Given the description of an element on the screen output the (x, y) to click on. 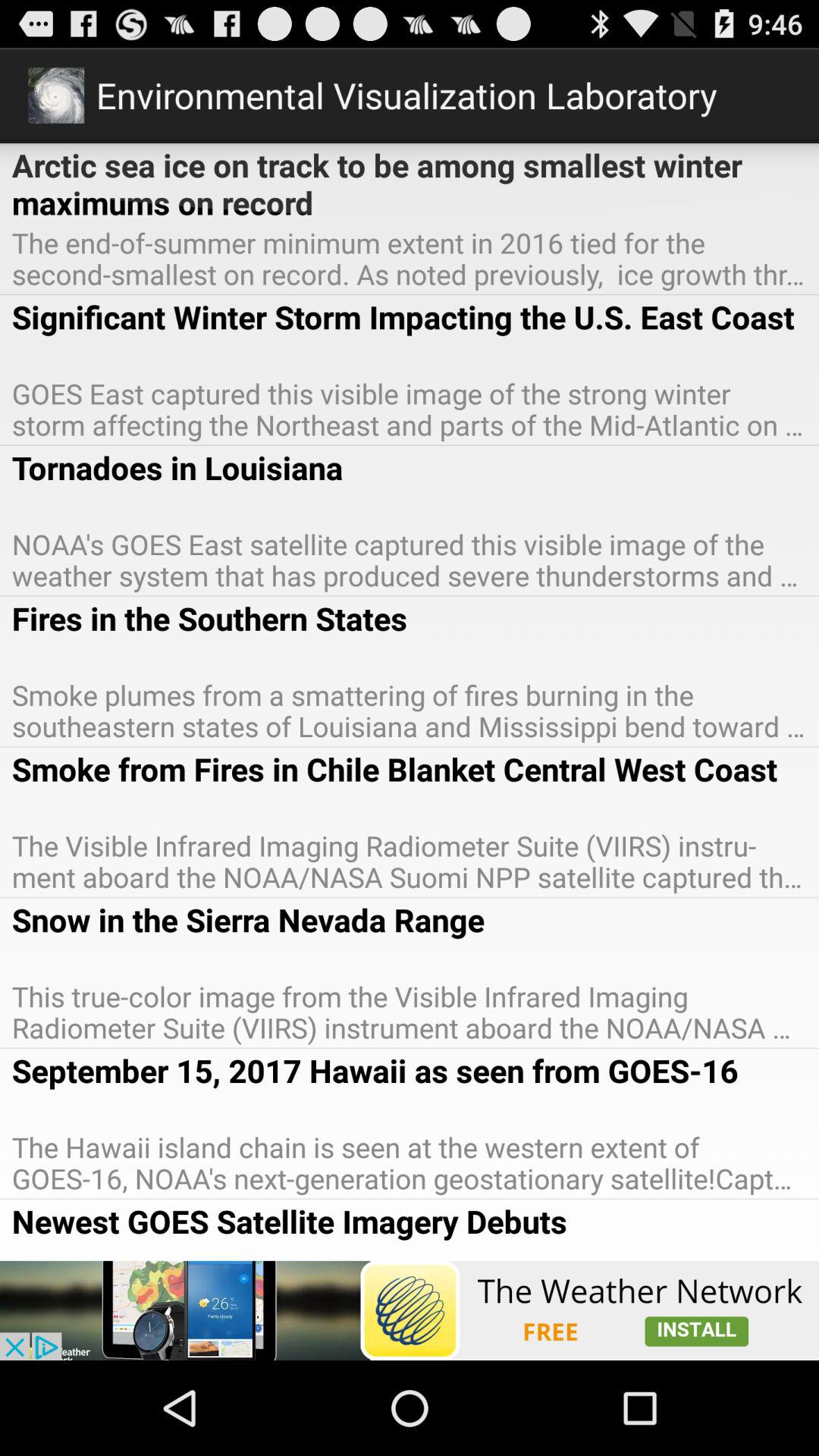
advertisement for the weather network (409, 1310)
